Given the description of an element on the screen output the (x, y) to click on. 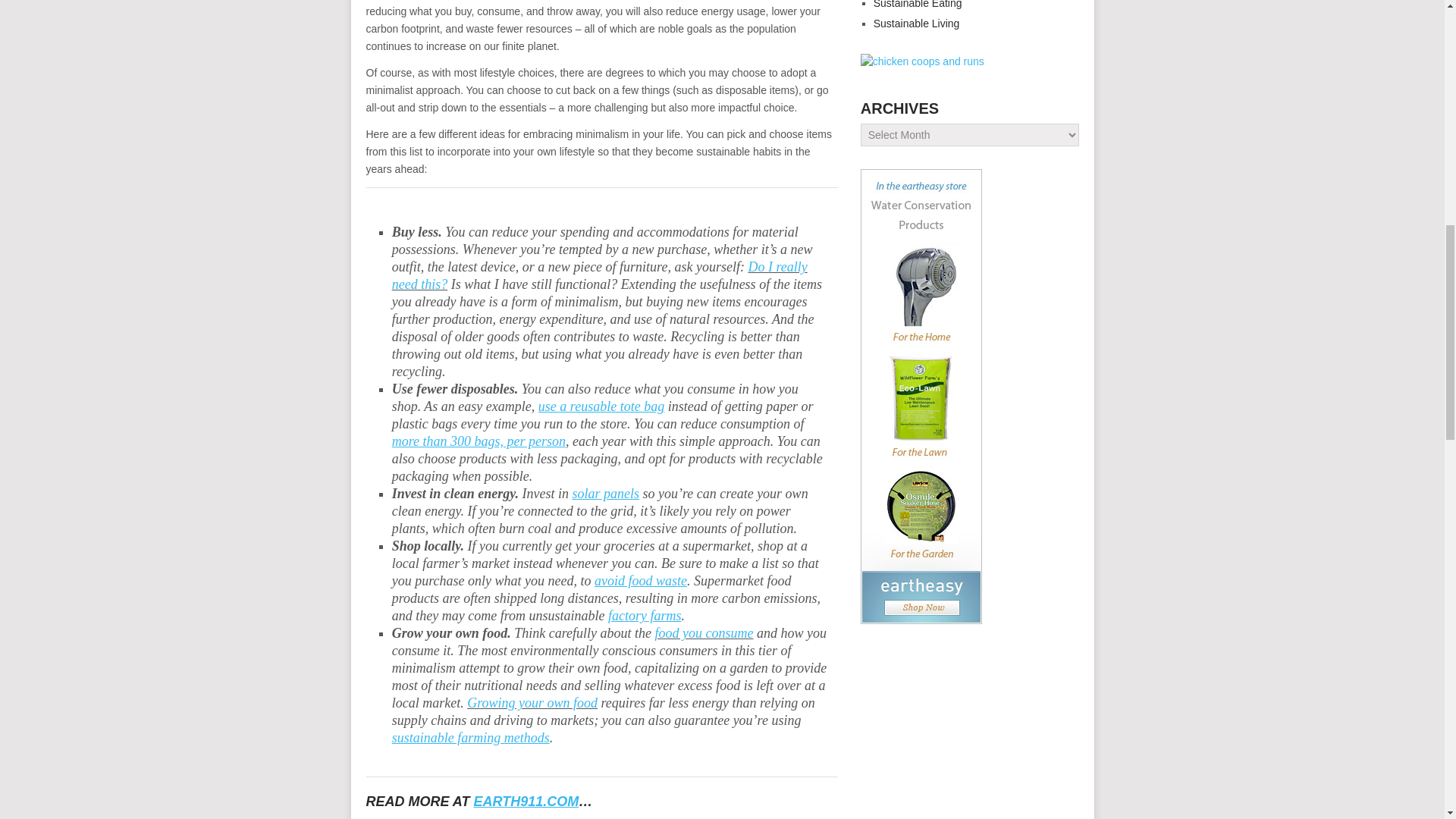
more than 300 bags, per person (478, 441)
factory farms (644, 615)
sustainable farming methods (470, 737)
avoid food waste (640, 580)
use a reusable tote bag (600, 406)
Do I really need this? (599, 275)
Growing your own food (531, 702)
solar panels (605, 493)
food you consume (704, 632)
